Given the description of an element on the screen output the (x, y) to click on. 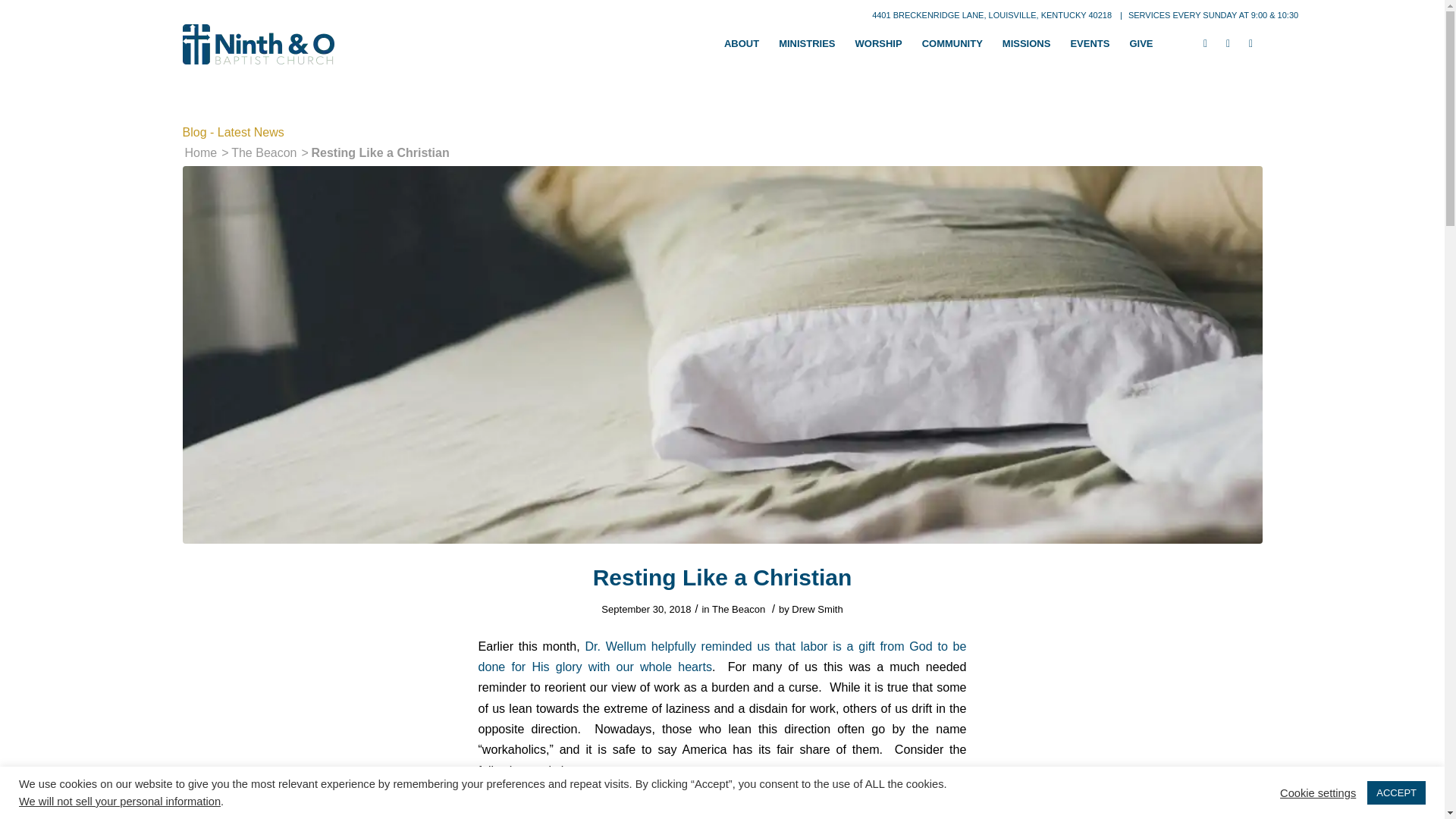
Facebook (1204, 42)
Posts by Drew Smith (817, 609)
Youtube (1250, 42)
blue-logo (257, 44)
Vimeo (1227, 42)
Permanent Link: Blog - Latest News (232, 132)
COMMUNITY (952, 43)
